Given the description of an element on the screen output the (x, y) to click on. 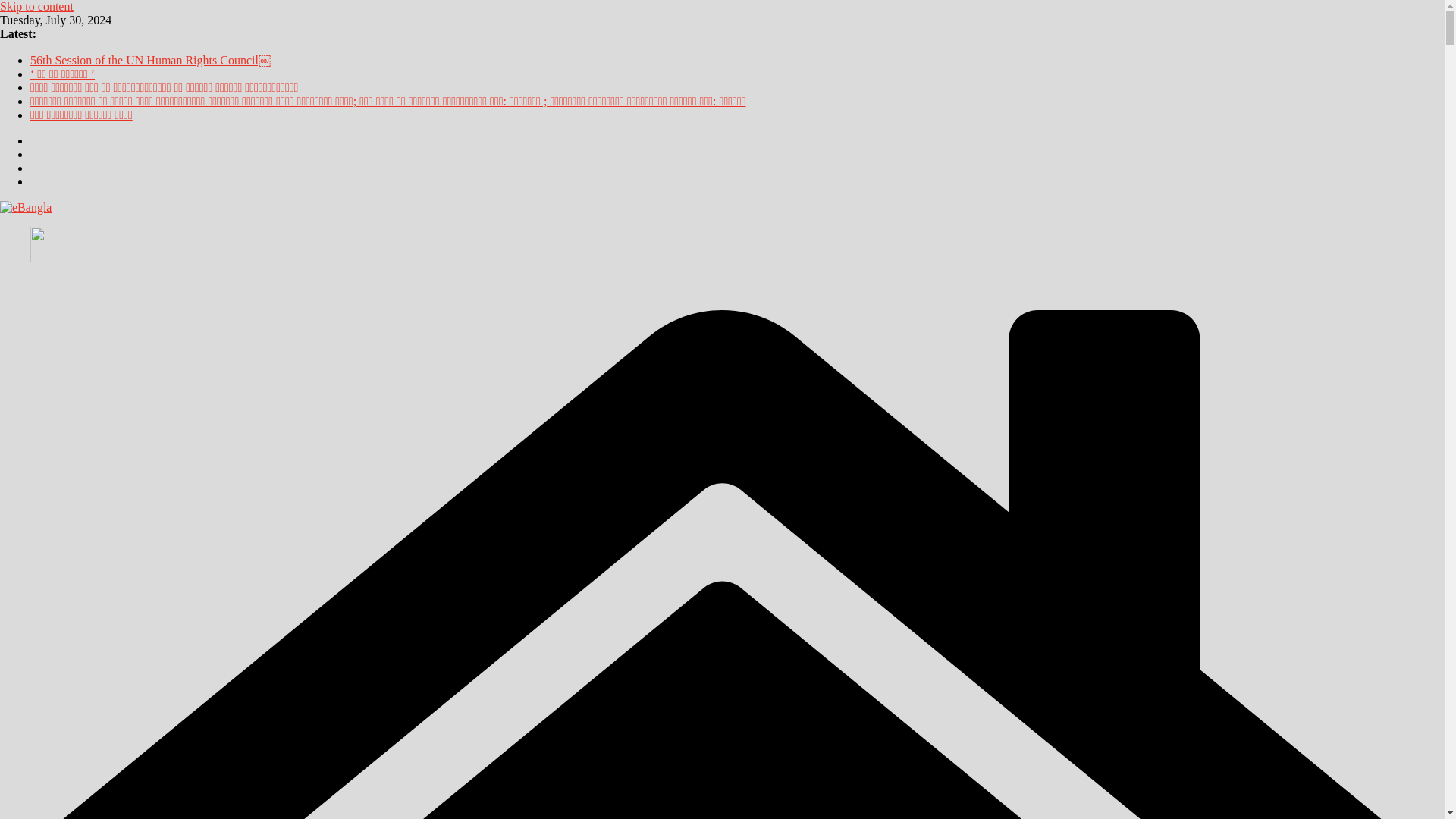
Skip to content (37, 6)
